Given the description of an element on the screen output the (x, y) to click on. 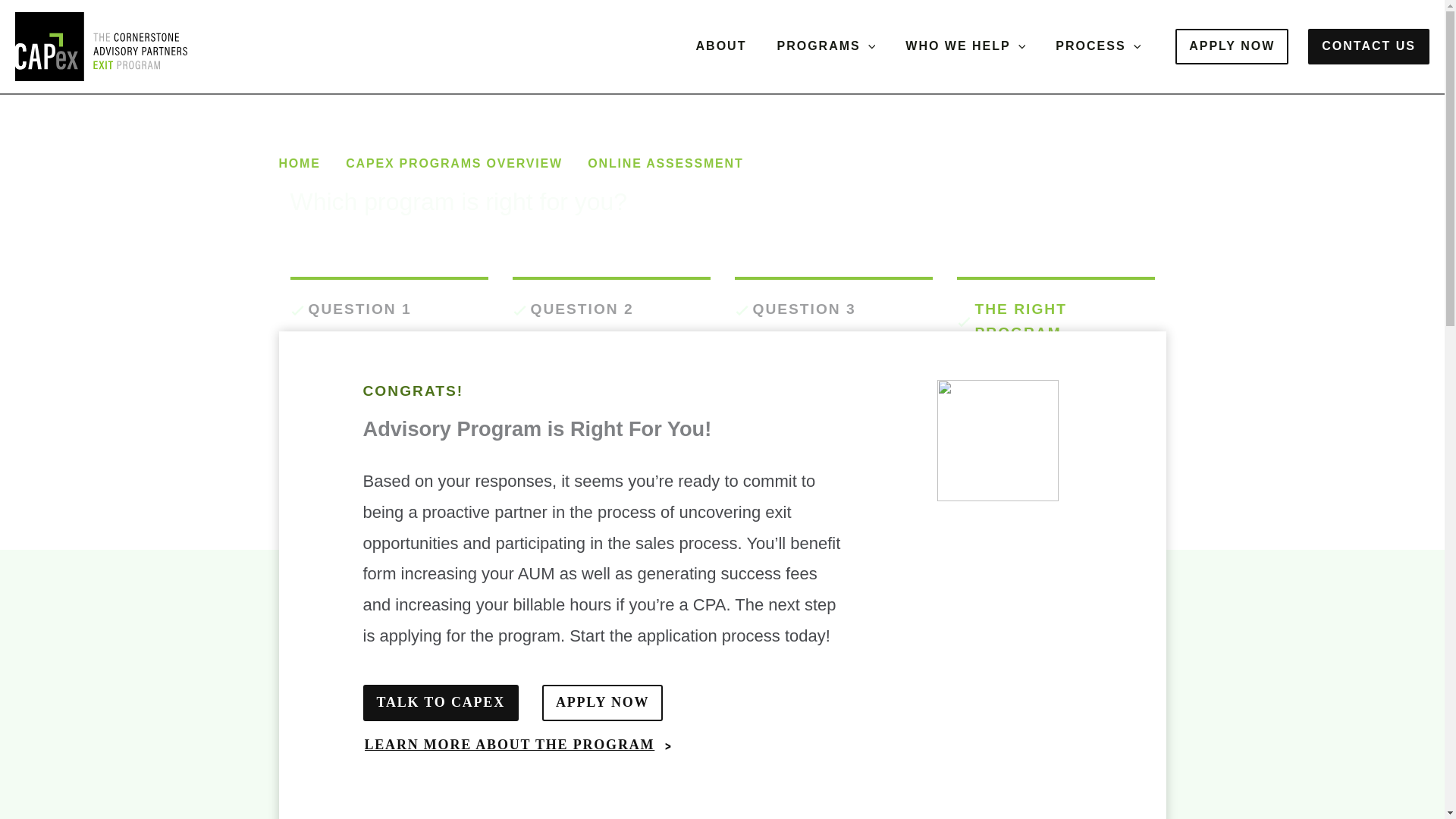
CONTACT US (1368, 46)
WHO WE HELP (965, 46)
PROGRAMS (825, 46)
APPLY NOW (1231, 46)
ABOUT (721, 46)
PROCESS (1098, 46)
